Given the description of an element on the screen output the (x, y) to click on. 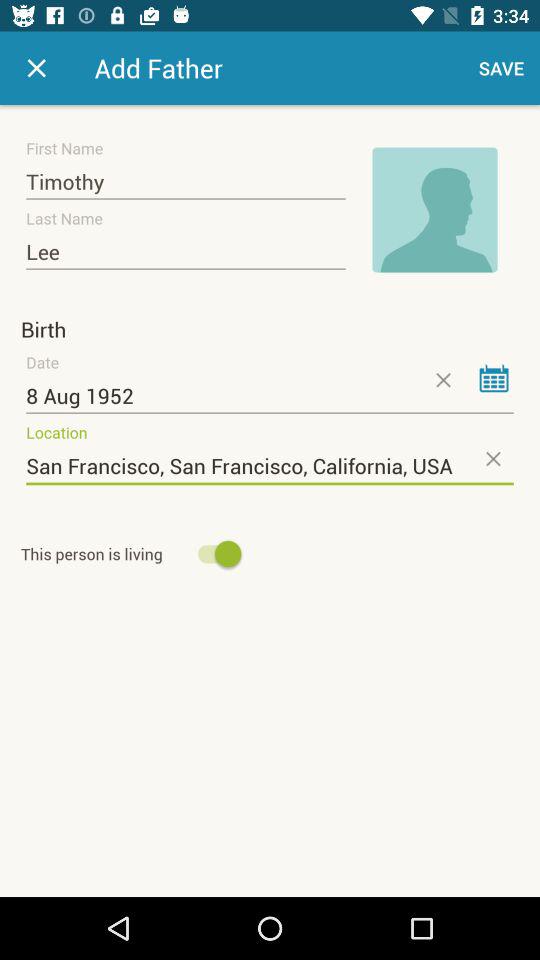
open the icon above timothy icon (36, 68)
